Given the description of an element on the screen output the (x, y) to click on. 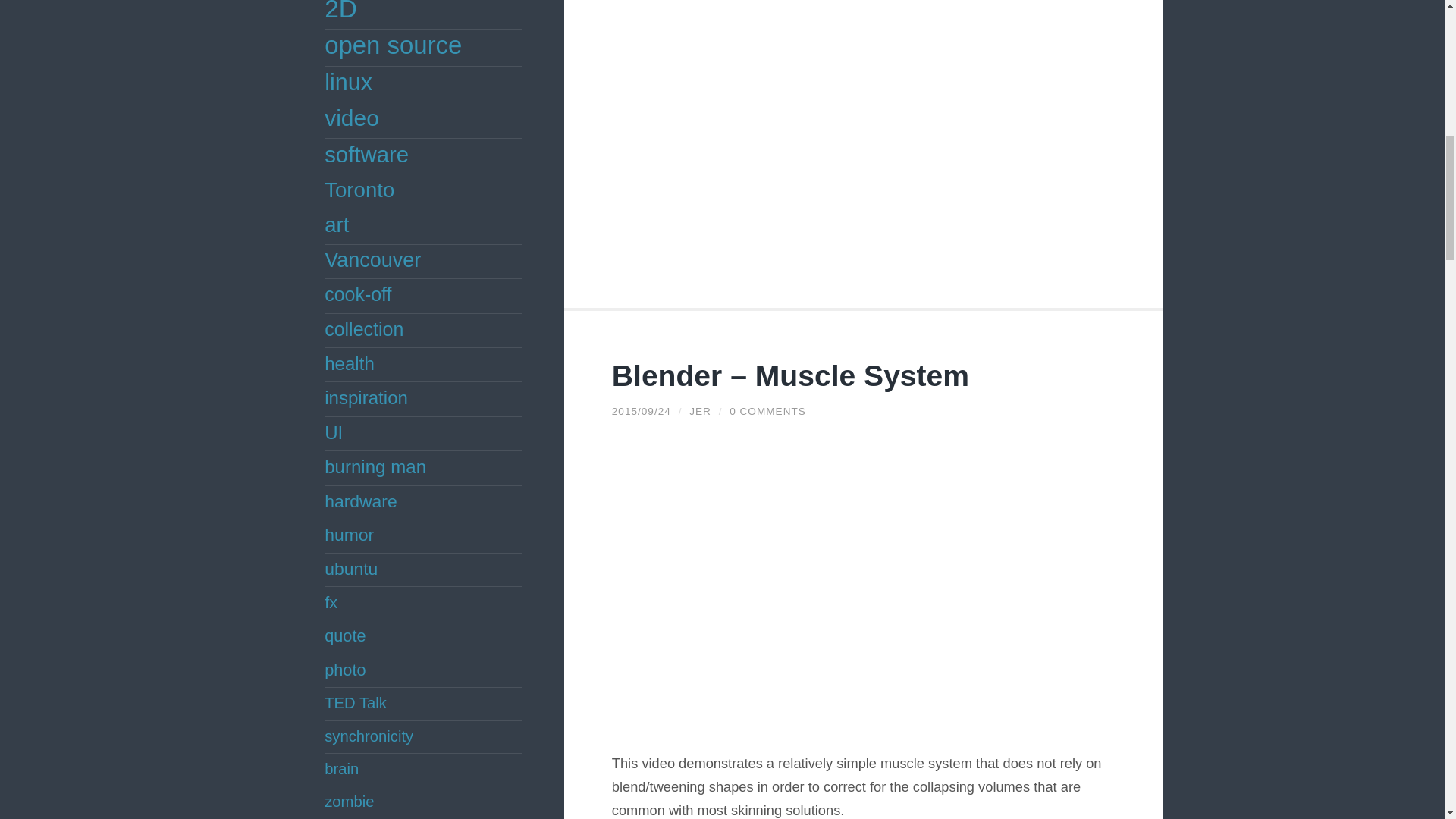
Posts by Jer (699, 410)
art (336, 224)
burning man (375, 466)
video (351, 117)
health (349, 362)
quote (344, 635)
software (366, 154)
cook-off (357, 293)
linux (348, 81)
hardware (360, 501)
